Given the description of an element on the screen output the (x, y) to click on. 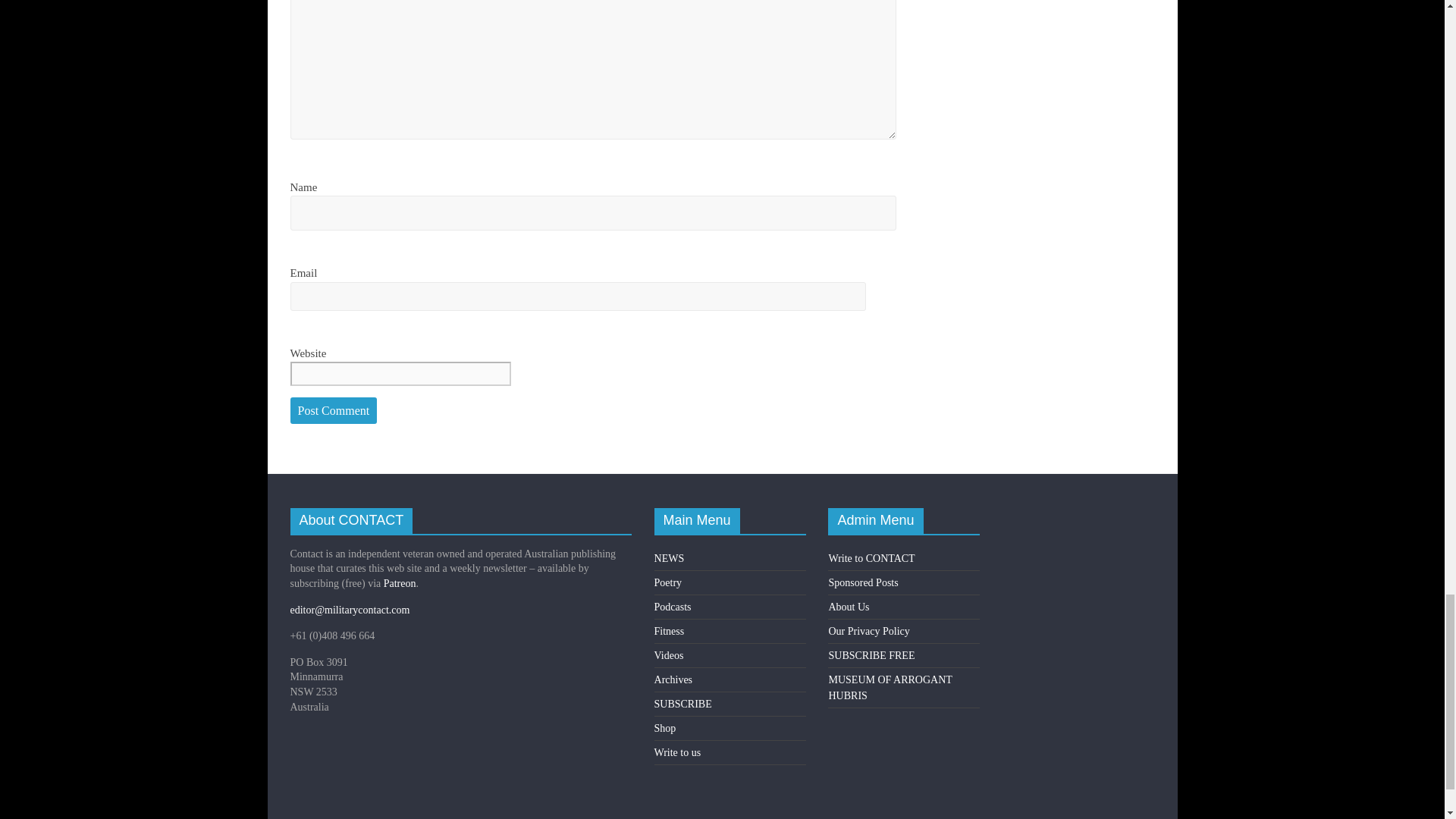
Post Comment (333, 411)
